Given the description of an element on the screen output the (x, y) to click on. 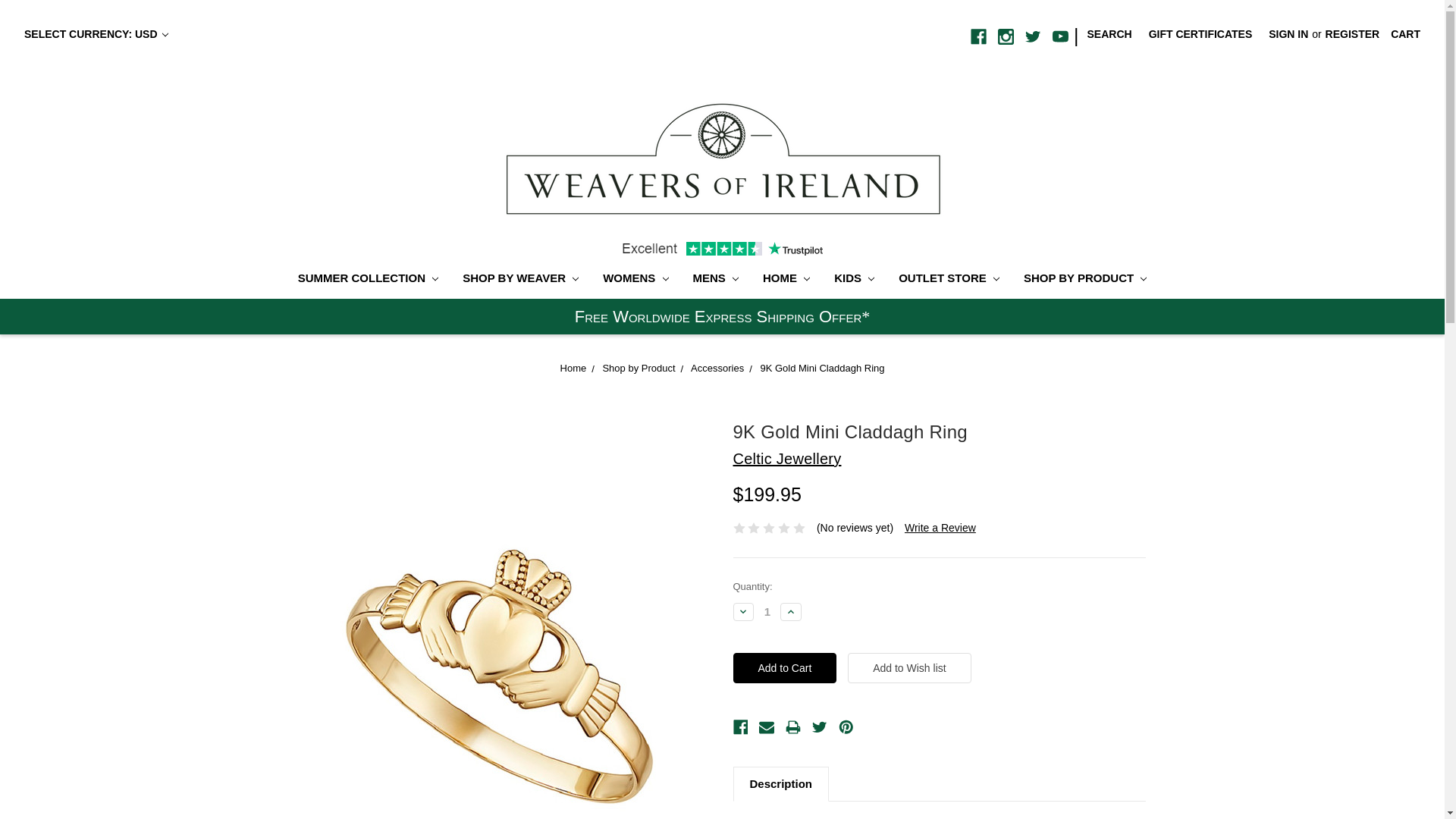
GIFT CERTIFICATES (1200, 34)
CART (1404, 34)
1 (767, 611)
SUMMER COLLECTION (367, 279)
SHOP BY WEAVER (520, 279)
SELECT CURRENCY: USD (96, 34)
Weavers of Ireland (722, 158)
SEARCH (1109, 34)
Add to Cart (783, 667)
SIGN IN (1288, 34)
